Given the description of an element on the screen output the (x, y) to click on. 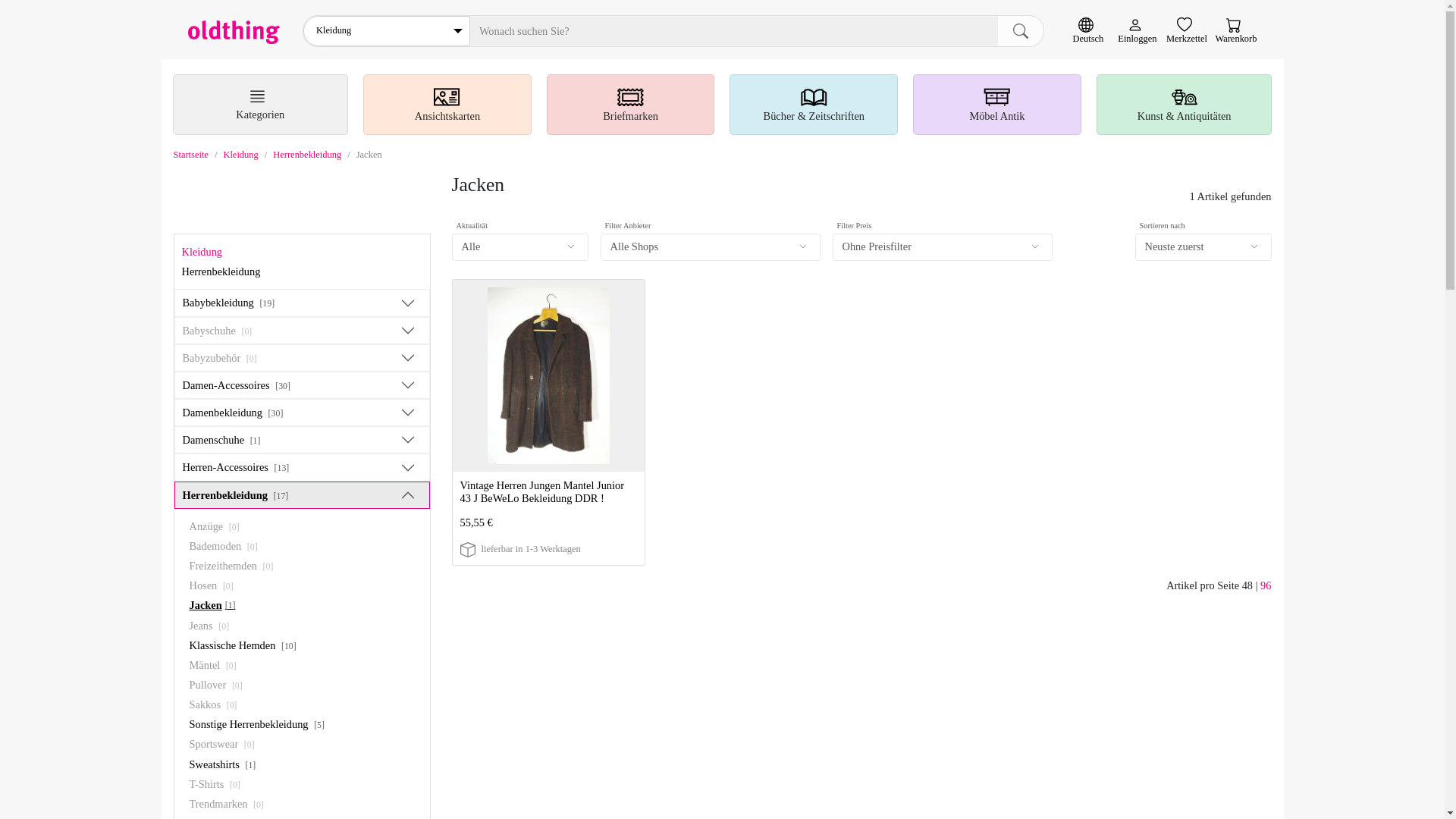
Warenkorb (1235, 31)
Merkzettel (1186, 31)
Einloggen (1137, 31)
Deutsch (1087, 31)
oldthing Startseite (233, 32)
Kategorien (261, 104)
